Given the description of an element on the screen output the (x, y) to click on. 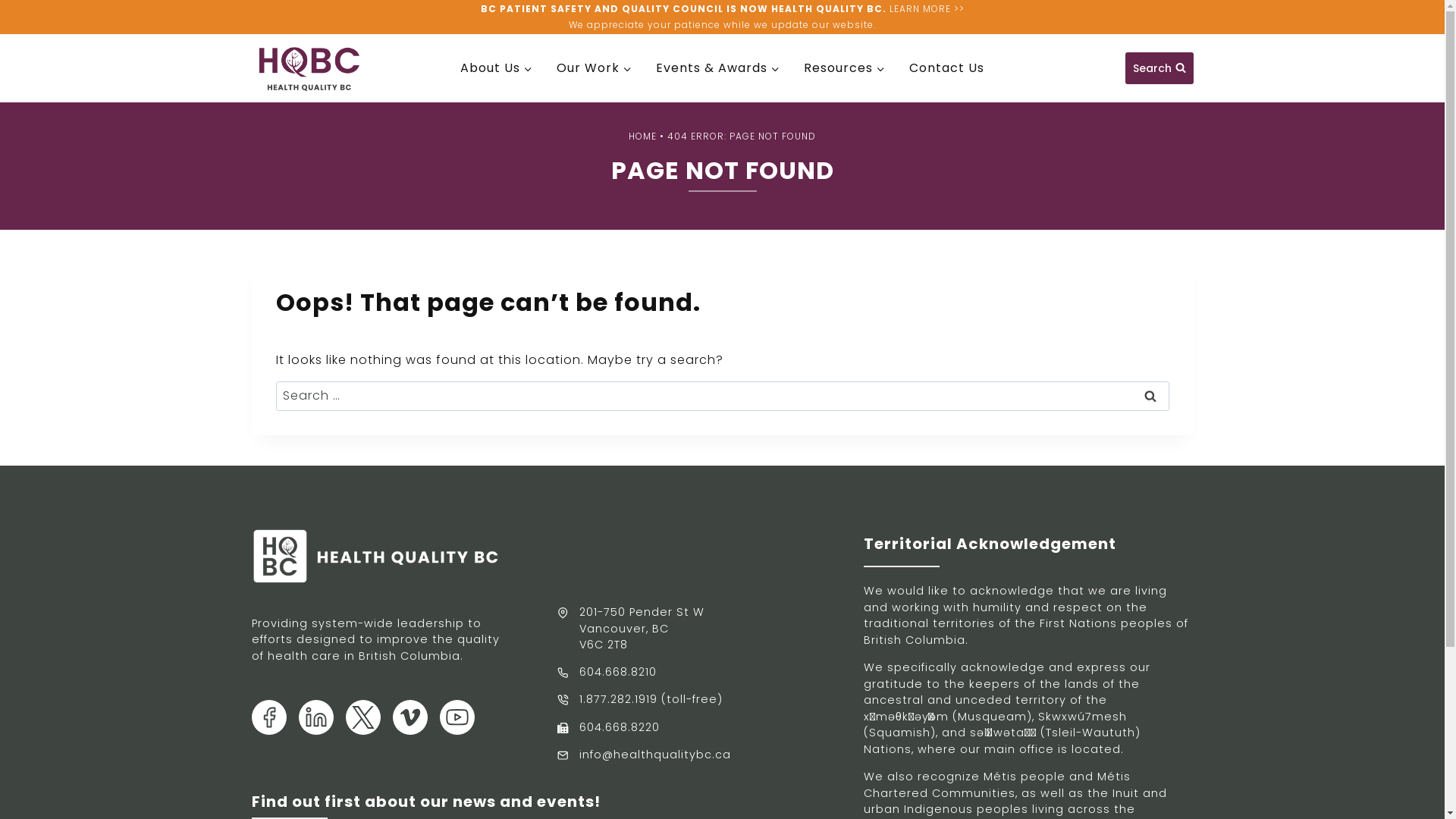
HOME Element type: text (642, 135)
Contact Us Element type: text (946, 68)
Events & Awards Element type: text (717, 68)
info@healthqualitybc.ca Element type: text (643, 754)
1.877.282.1919 (toll-free) Element type: text (639, 699)
604.668.8210 Element type: text (606, 672)
About Us Element type: text (496, 68)
Search Element type: text (1150, 396)
Resources Element type: text (844, 68)
Our Work Element type: text (593, 68)
Search Element type: text (1159, 68)
